Given the description of an element on the screen output the (x, y) to click on. 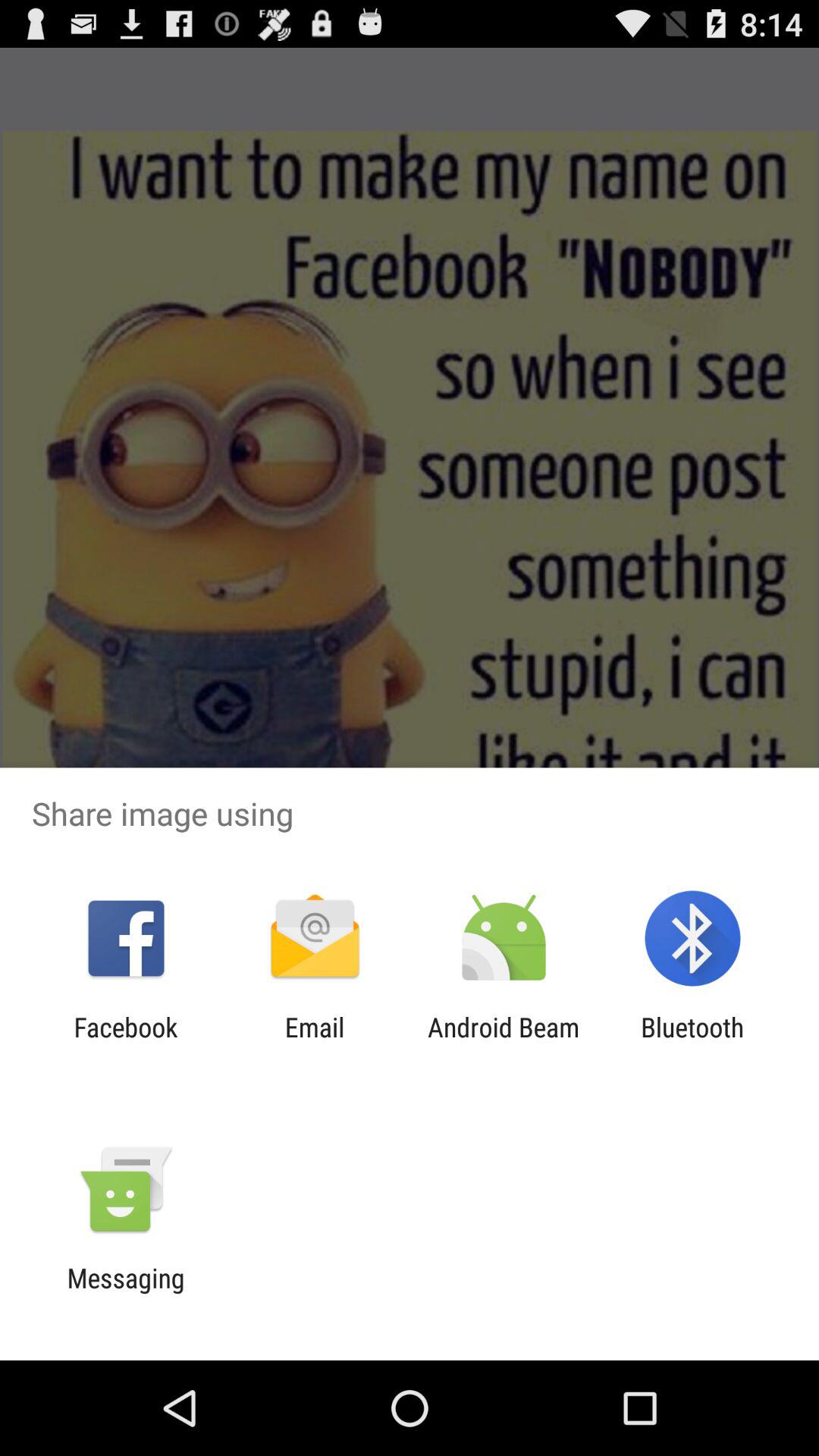
launch the messaging (125, 1293)
